Given the description of an element on the screen output the (x, y) to click on. 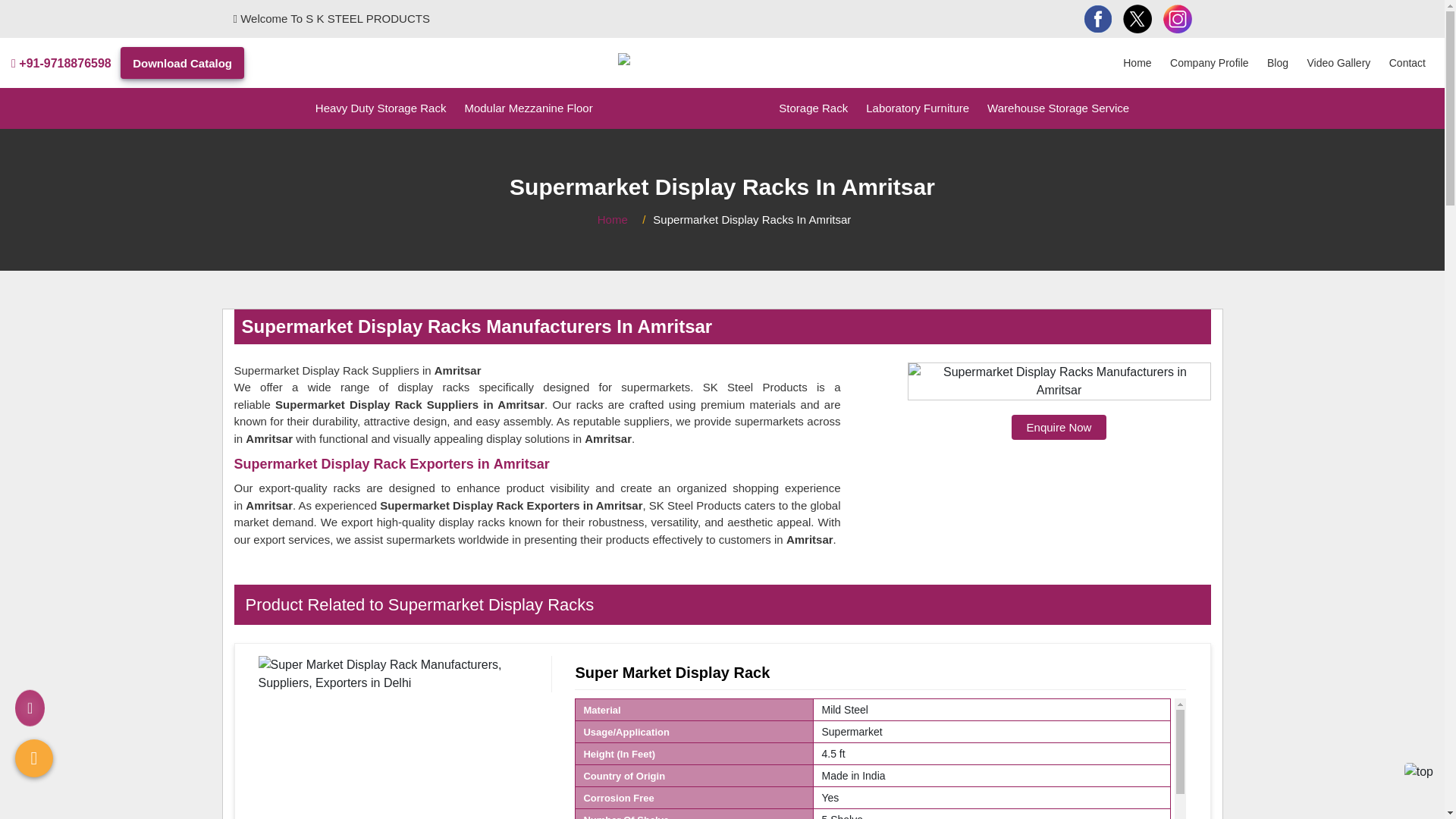
Supermarket Display Racks Manufacturers in Amritsar (1058, 381)
Blog (1277, 62)
Download Catalog (182, 62)
Warehouse Storage Service (1058, 107)
Company Profile (1208, 62)
S K STEEL PRODUCTS (686, 58)
Video Gallery (1339, 62)
Heavy Duty Storage Rack (380, 107)
Download Catalog (182, 62)
Home (611, 220)
Contact (1406, 62)
Modular Mezzanine Floor (527, 107)
Home (1136, 62)
Storage Rack (813, 107)
